Given the description of an element on the screen output the (x, y) to click on. 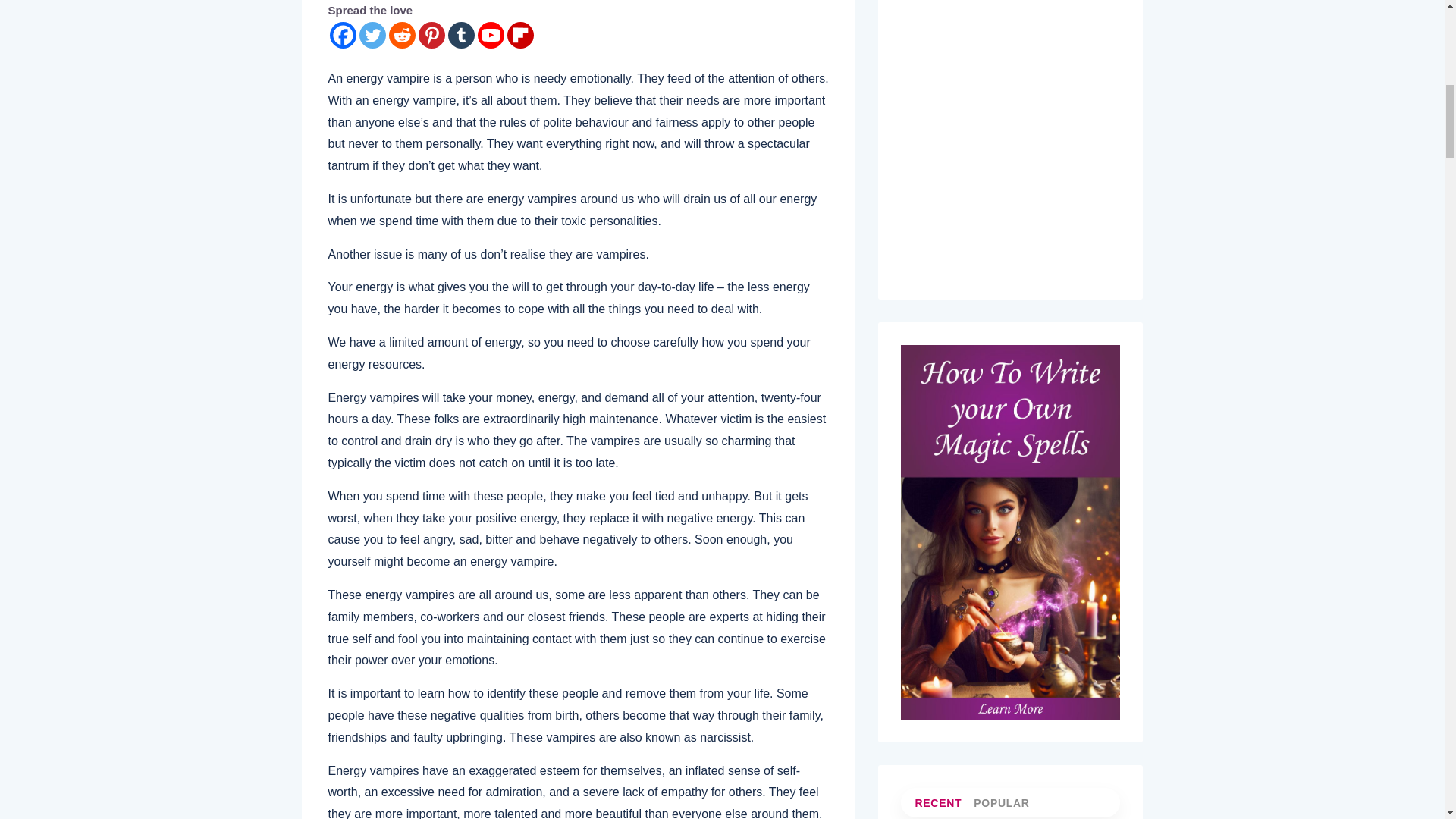
Facebook (342, 35)
Flipboard (519, 35)
Pinterest (432, 35)
Reddit (401, 35)
Youtube (490, 35)
Twitter (372, 35)
Tumblr (460, 35)
